Given the description of an element on the screen output the (x, y) to click on. 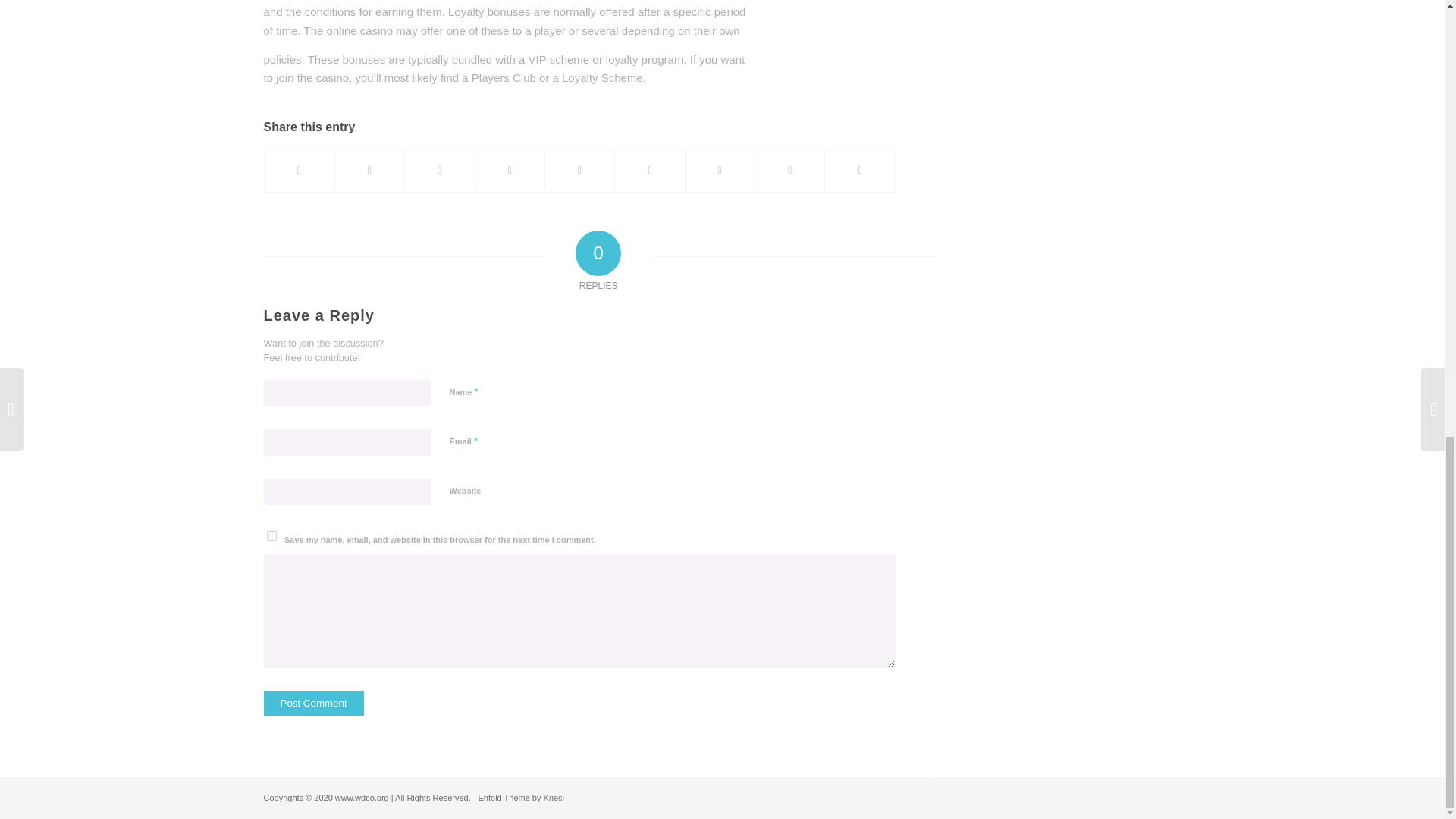
yes (271, 535)
Post Comment (313, 703)
Post Comment (313, 703)
